Given the description of an element on the screen output the (x, y) to click on. 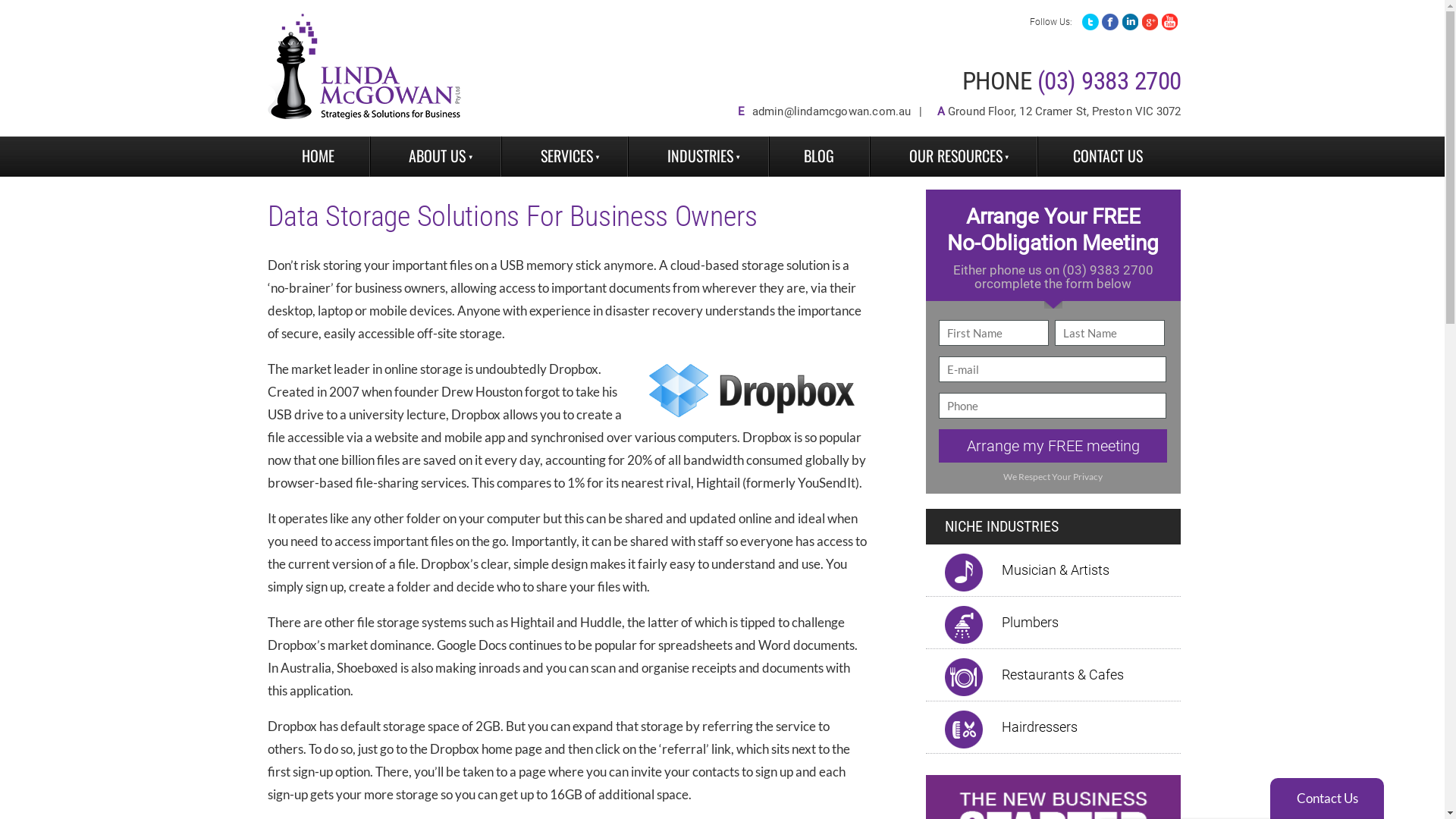
INDUSTRIES Element type: text (697, 156)
Restaurants & Cafes Element type: text (1065, 674)
ABOUT US Element type: text (435, 156)
HOME Element type: text (317, 156)
OUR RESOURCES Element type: text (953, 156)
BLOG Element type: text (819, 156)
Musician & Artists Element type: text (1058, 570)
CONTACT US Element type: text (1107, 156)
We Respect Your Privacy Element type: text (1052, 476)
Hairdressers Element type: text (1042, 727)
Plumbers Element type: text (1033, 622)
Arrange my FREE meeting Element type: text (1052, 445)
admin@lindamcgowan.com.au Element type: text (831, 111)
SERVICES Element type: text (564, 156)
